Given the description of an element on the screen output the (x, y) to click on. 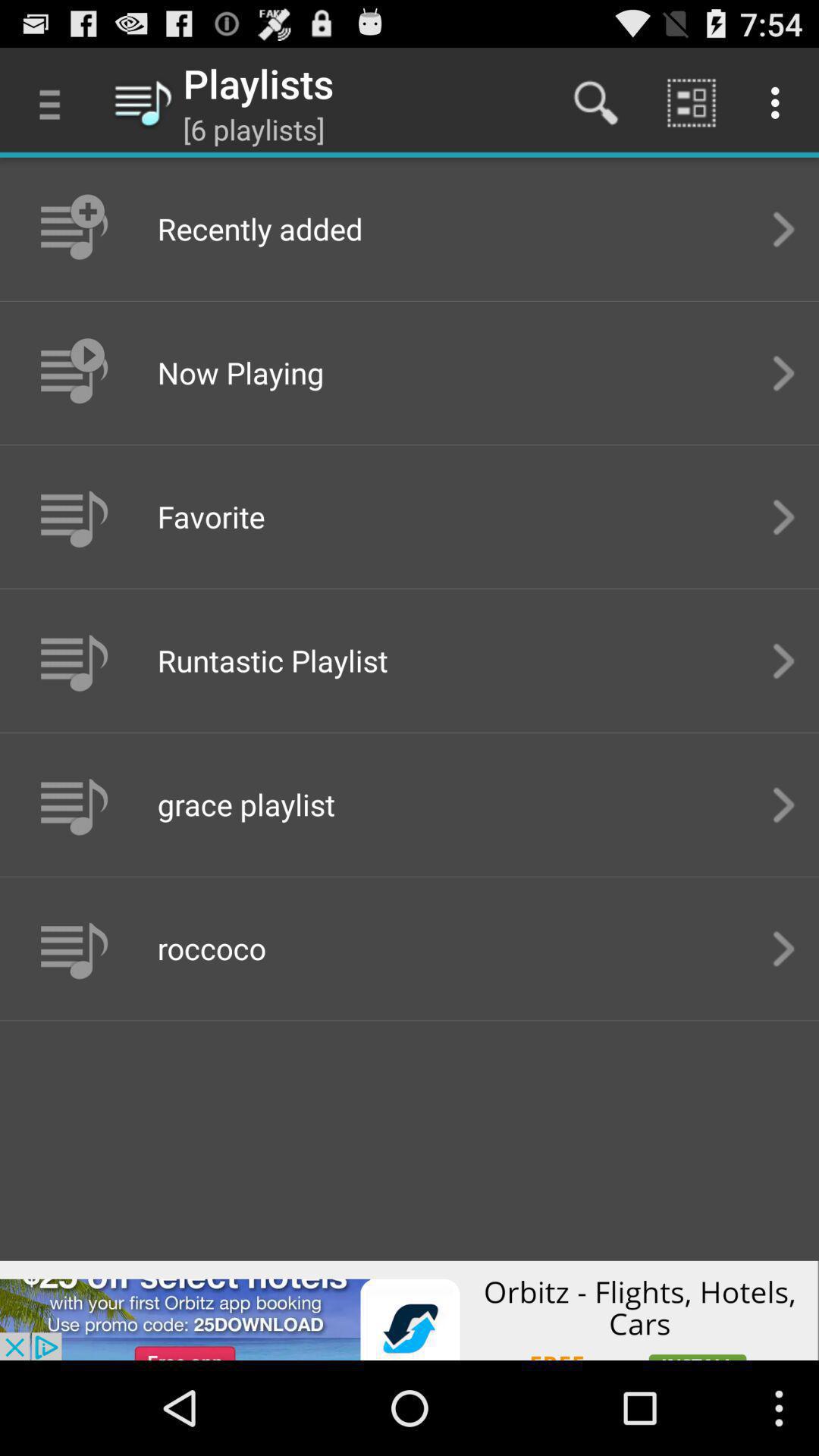
select the 3rd music icon (71, 516)
click on the playlist icon which is beside playlists (143, 101)
click on icon on the left side of grace playlist (71, 804)
click on last music icon (71, 948)
click on the search box icon (595, 103)
